Given the description of an element on the screen output the (x, y) to click on. 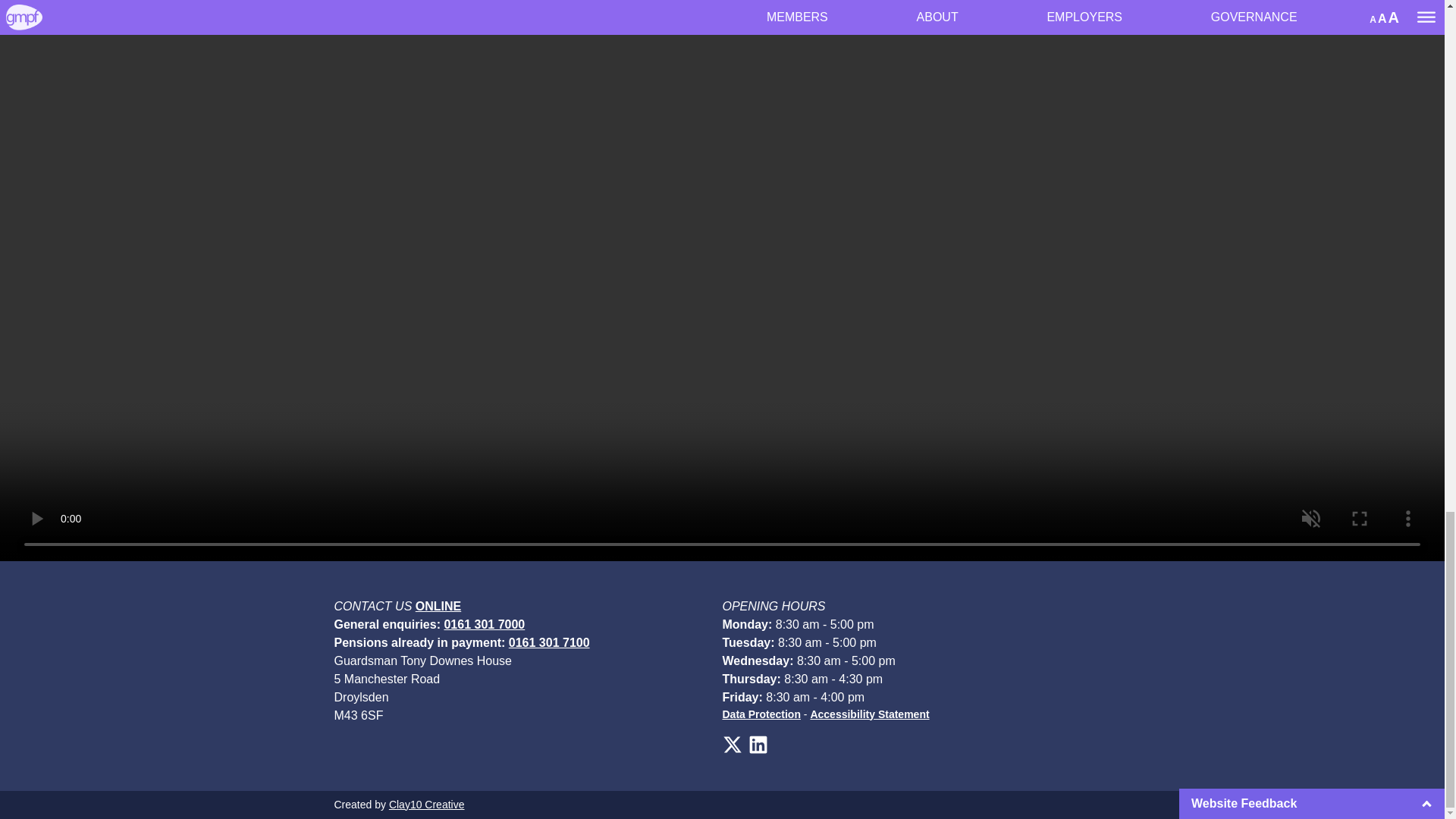
GMPF Linkedin (757, 744)
GMPF Twitter (731, 744)
